Given the description of an element on the screen output the (x, y) to click on. 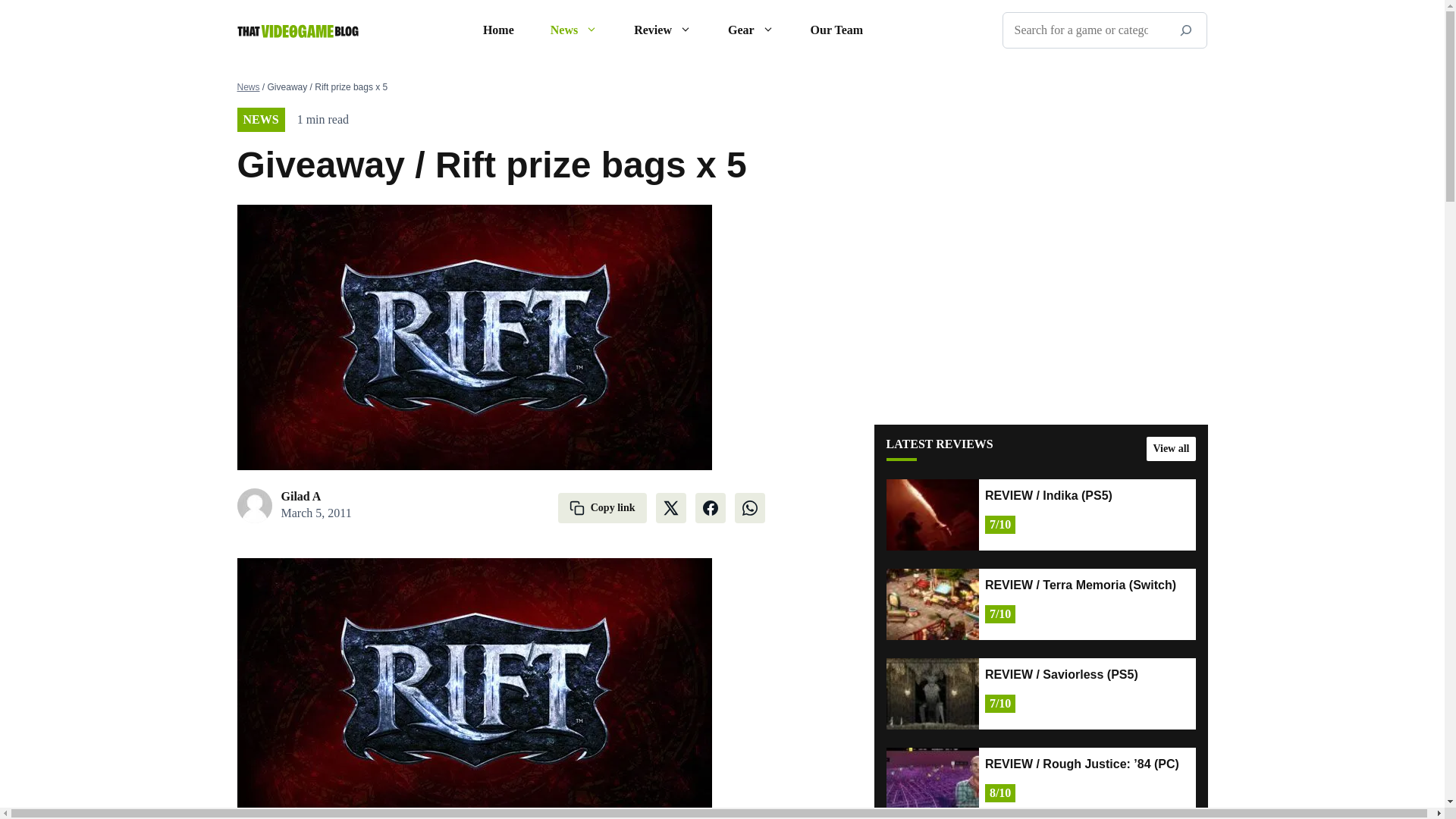
News (573, 29)
Gear (751, 29)
Home (498, 29)
Review (662, 29)
